Given the description of an element on the screen output the (x, y) to click on. 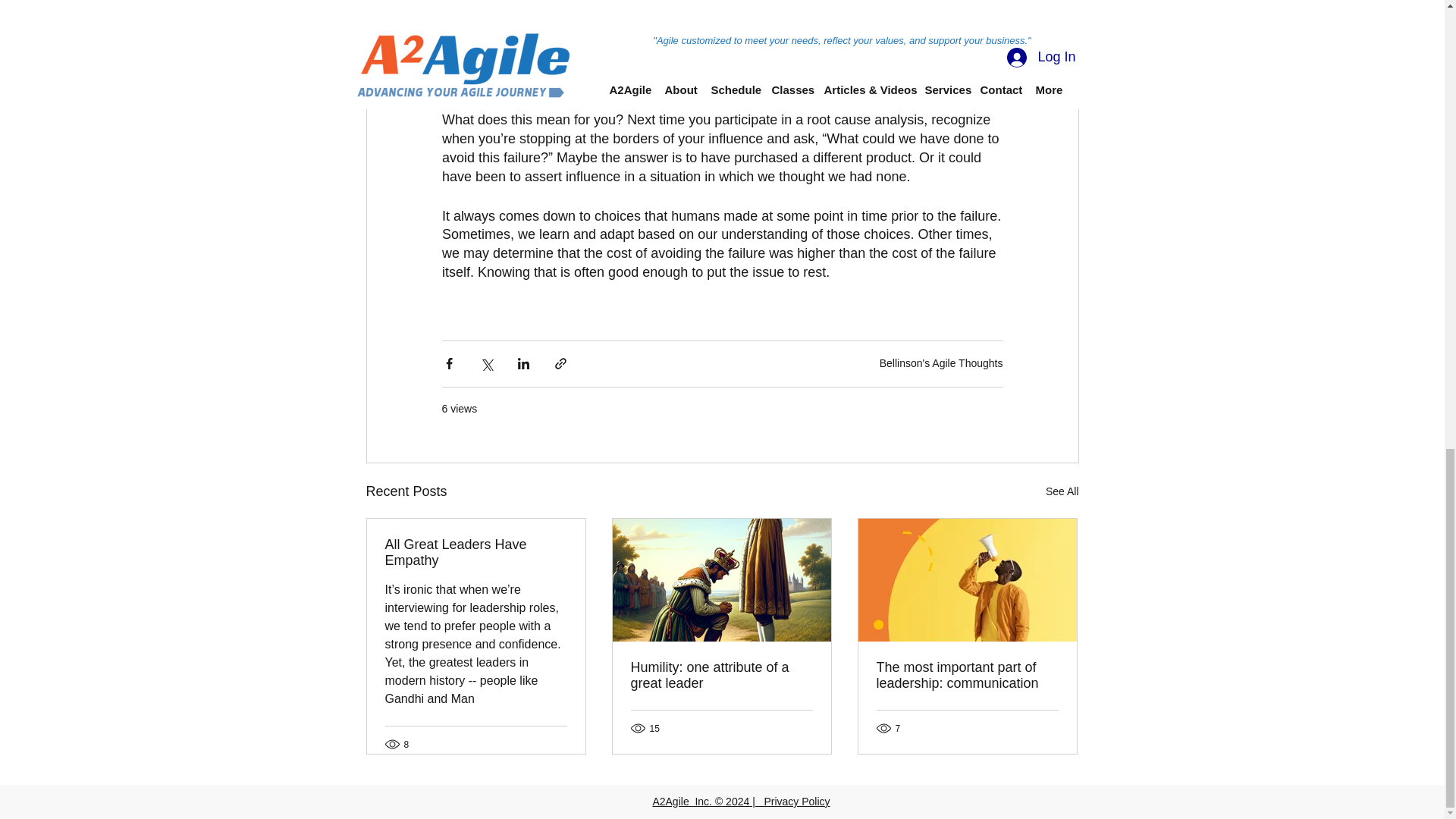
Humility: one attribute of a great leader (721, 675)
All Great Leaders Have Empathy (476, 552)
Bellinson's Agile Thoughts (941, 363)
See All (1061, 491)
The most important part of leadership: communication (967, 675)
